Given the description of an element on the screen output the (x, y) to click on. 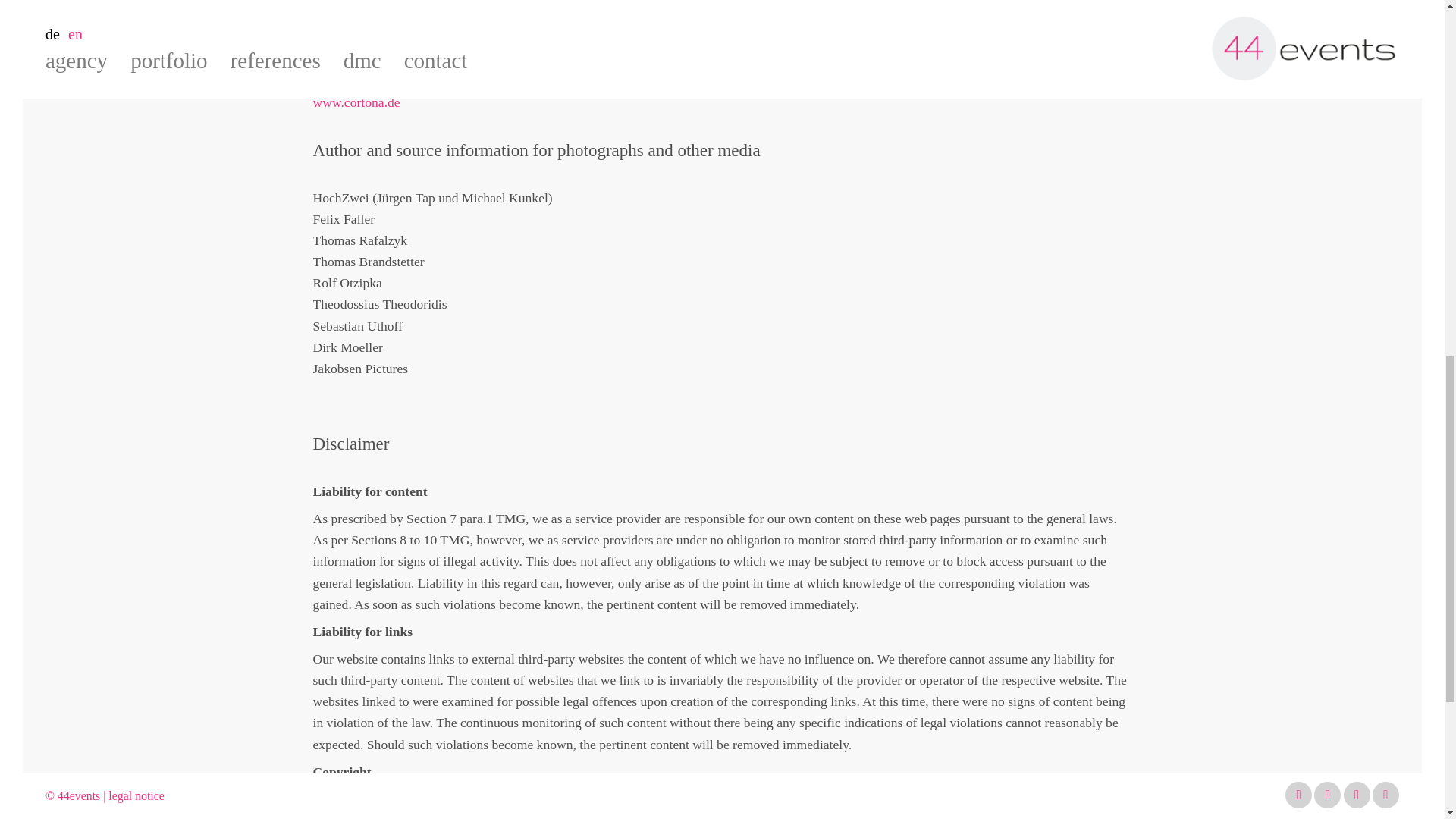
www.cortona.de (355, 102)
